Given the description of an element on the screen output the (x, y) to click on. 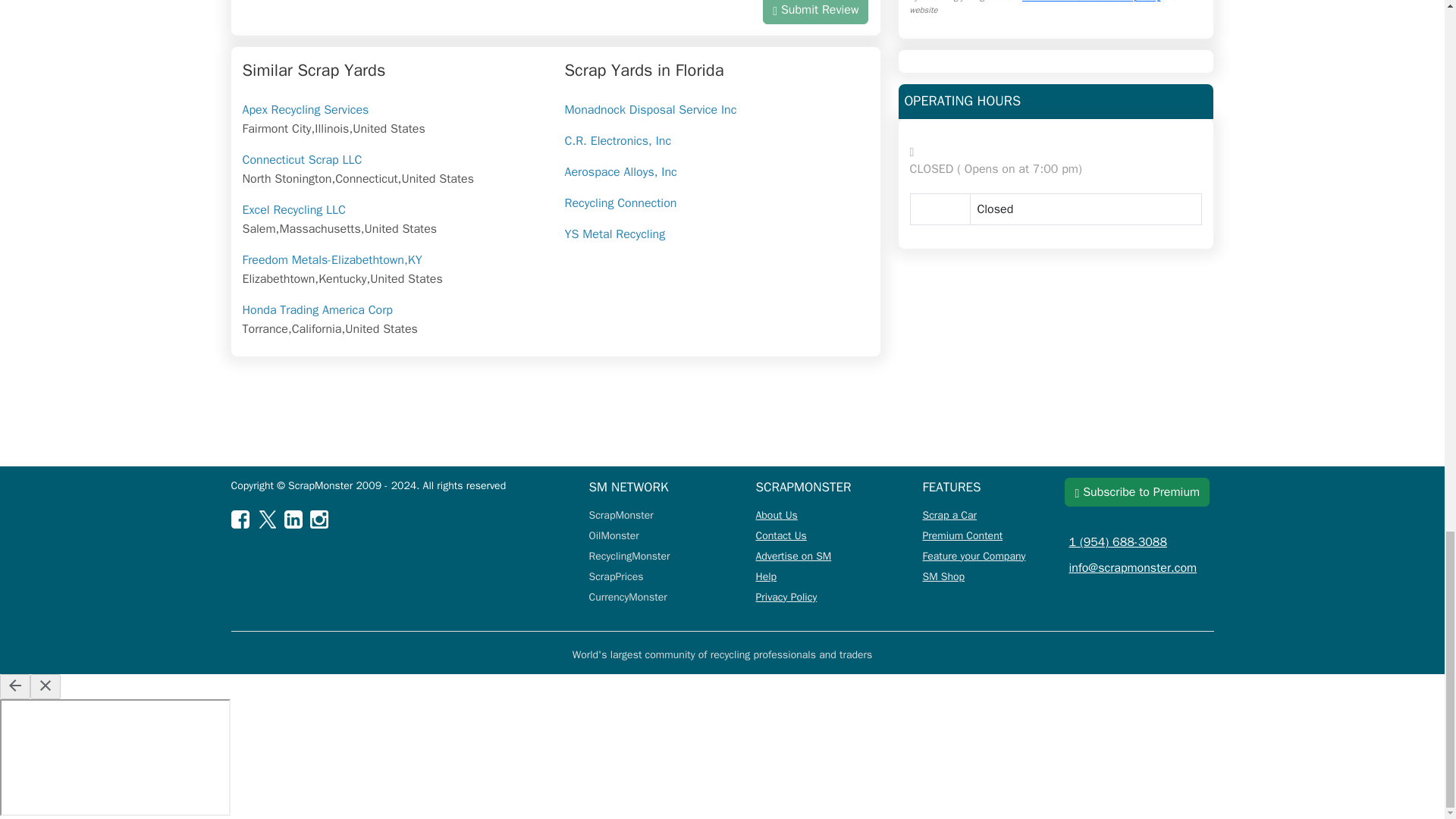
Excel Recycling LLC  (294, 209)
Connecticut Scrap LLC  (302, 159)
Apex Recycling Services (306, 109)
